Given the description of an element on the screen output the (x, y) to click on. 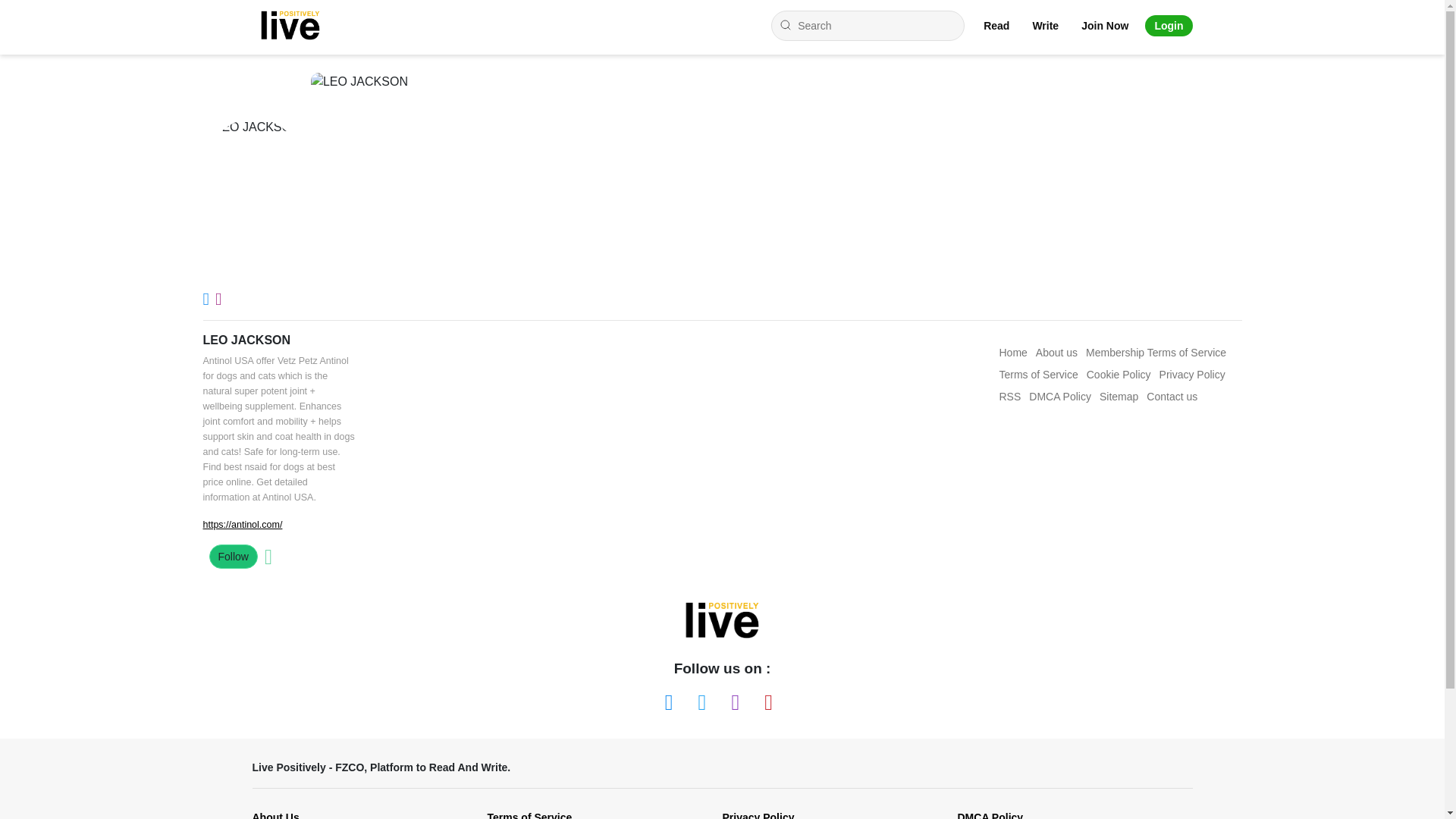
Login (1168, 25)
Read (996, 25)
Join Now (1104, 25)
Write (1045, 25)
